Given the description of an element on the screen output the (x, y) to click on. 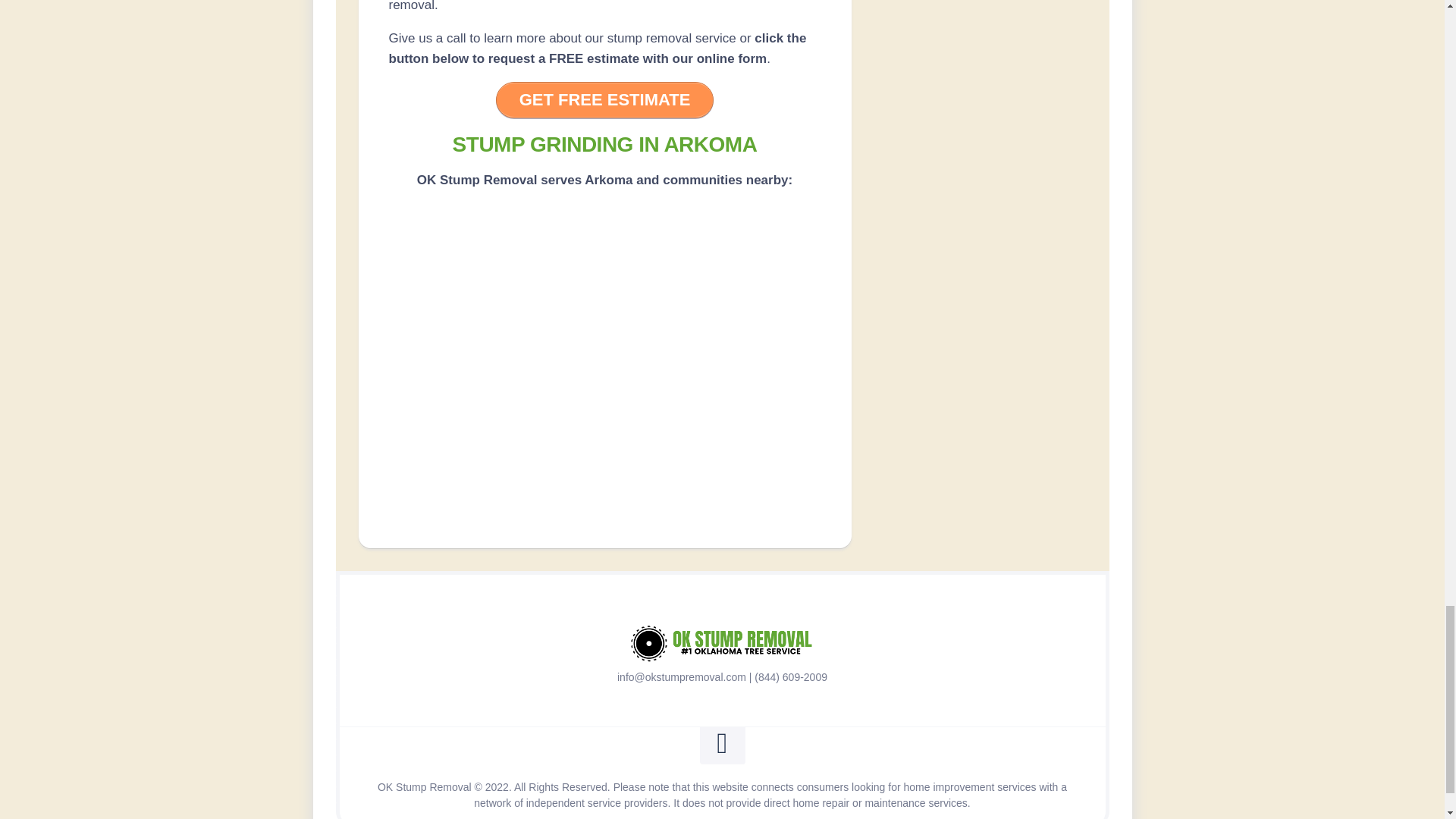
GET FREE ESTIMATE (605, 99)
